Given the description of an element on the screen output the (x, y) to click on. 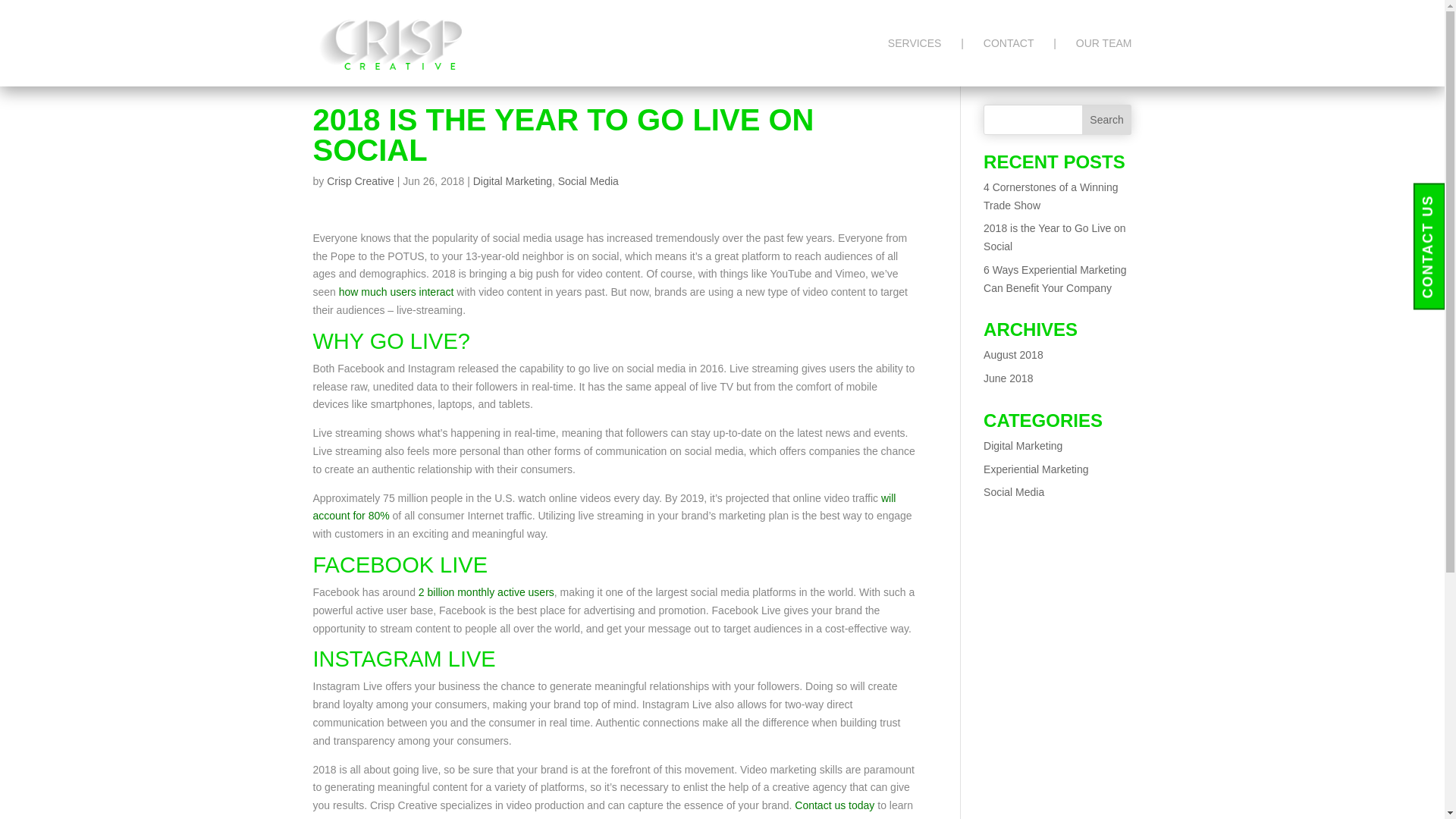
Experiential Marketing (1036, 469)
Social Media (587, 181)
Contact us today (834, 805)
Crisp Creative (360, 181)
Posts by Crisp Creative (360, 181)
how much users interact (396, 291)
2018 is the Year to Go Live on Social (1054, 236)
CONTACT (1008, 61)
August 2018 (1013, 354)
Search (1106, 119)
